Given the description of an element on the screen output the (x, y) to click on. 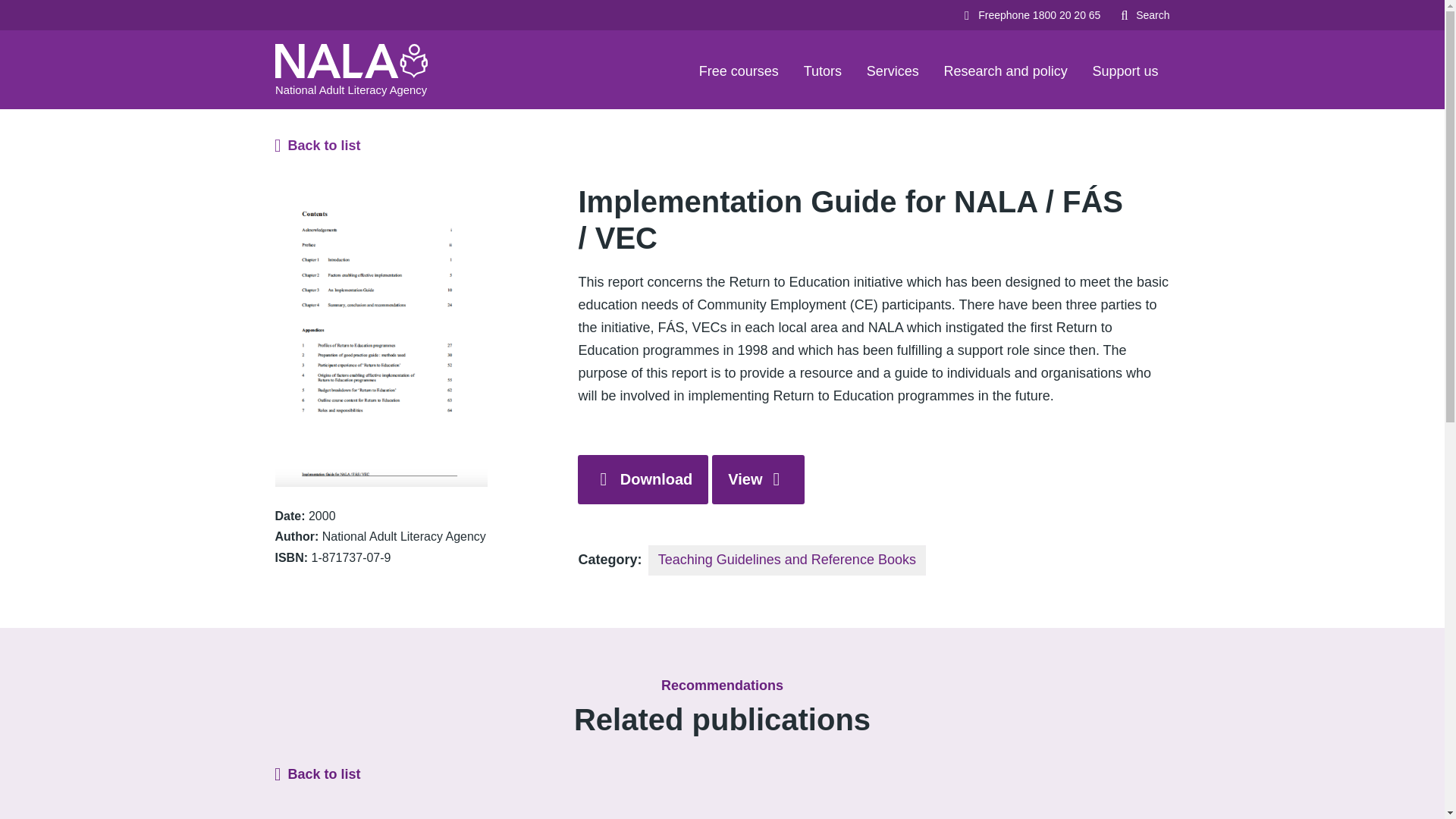
Services (893, 69)
Freephone 1800 20 20 65 (1029, 15)
Free courses (738, 69)
Services (893, 69)
Search (1143, 15)
Free courses (738, 69)
